Given the description of an element on the screen output the (x, y) to click on. 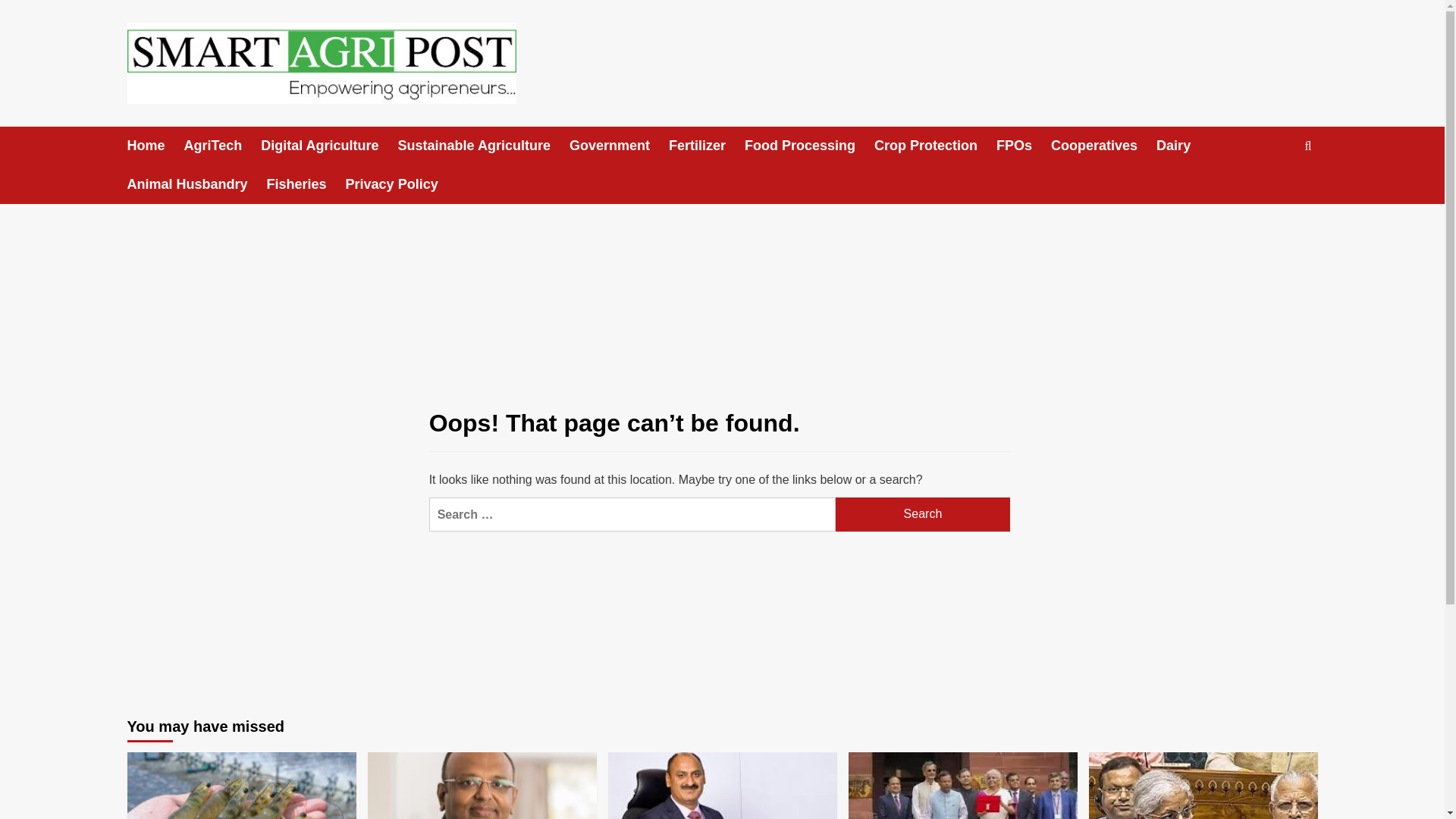
Search (922, 514)
Fertilizer (706, 145)
Search (922, 514)
Crop Protection (935, 145)
Search (1272, 192)
Sustainable Agriculture (483, 145)
Home (156, 145)
Dairy (1182, 145)
Government (618, 145)
Search (922, 514)
Cooperatives (1103, 145)
Privacy Policy (401, 184)
Fisheries (306, 184)
Animal Husbandry (197, 184)
FPOs (1023, 145)
